Given the description of an element on the screen output the (x, y) to click on. 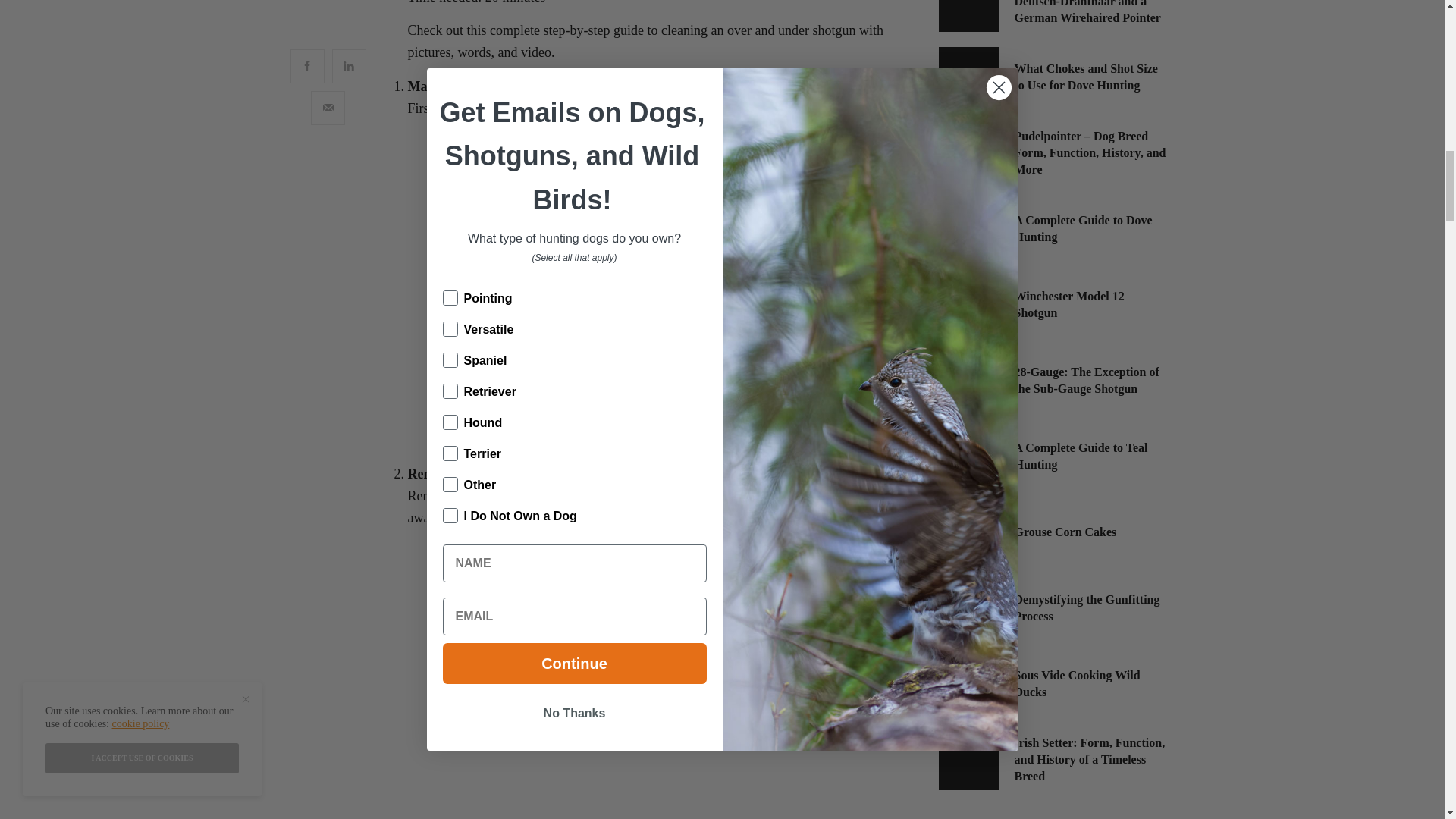
A Complete Guide to Dove Hunting (1090, 229)
A Complete Guide to Teal Hunting (1090, 456)
28-Gauge: The Exception of the Sub-Gauge Shotgun (1090, 380)
What Chokes and Shot Size to Use for Dove Hunting (1090, 77)
